Given the description of an element on the screen output the (x, y) to click on. 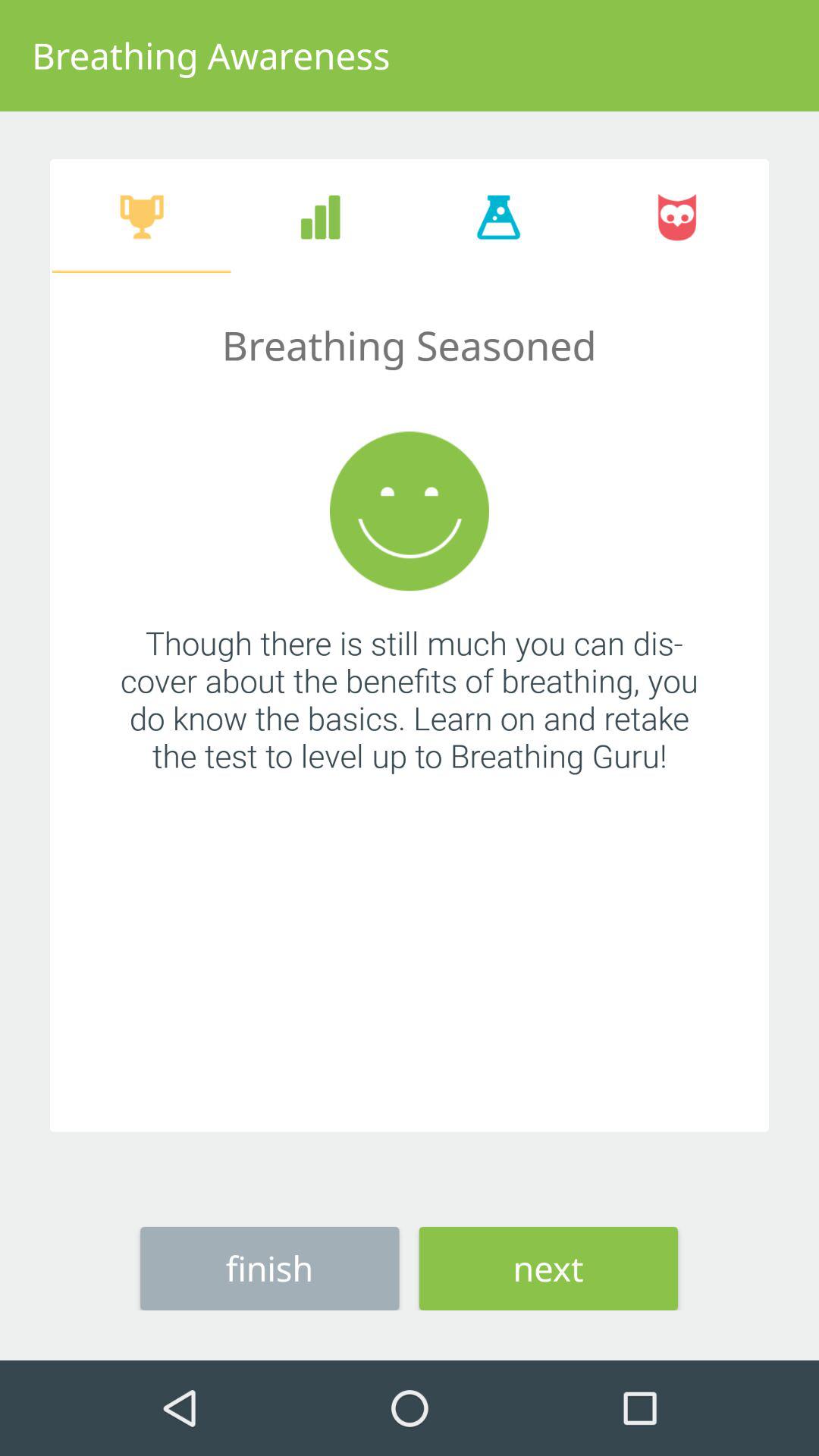
choose next (548, 1268)
